Given the description of an element on the screen output the (x, y) to click on. 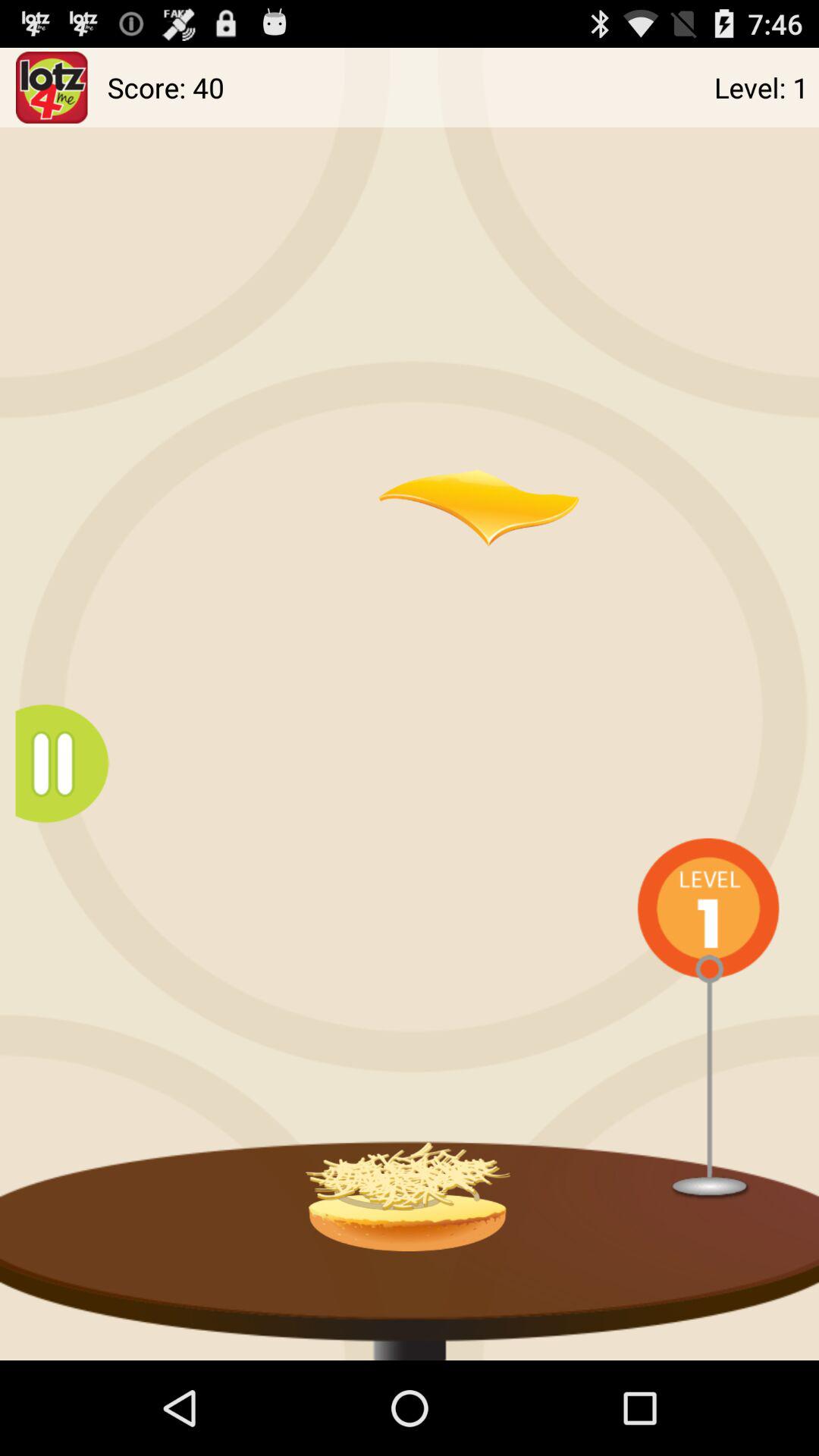
turn off item on the left (69, 763)
